Given the description of an element on the screen output the (x, y) to click on. 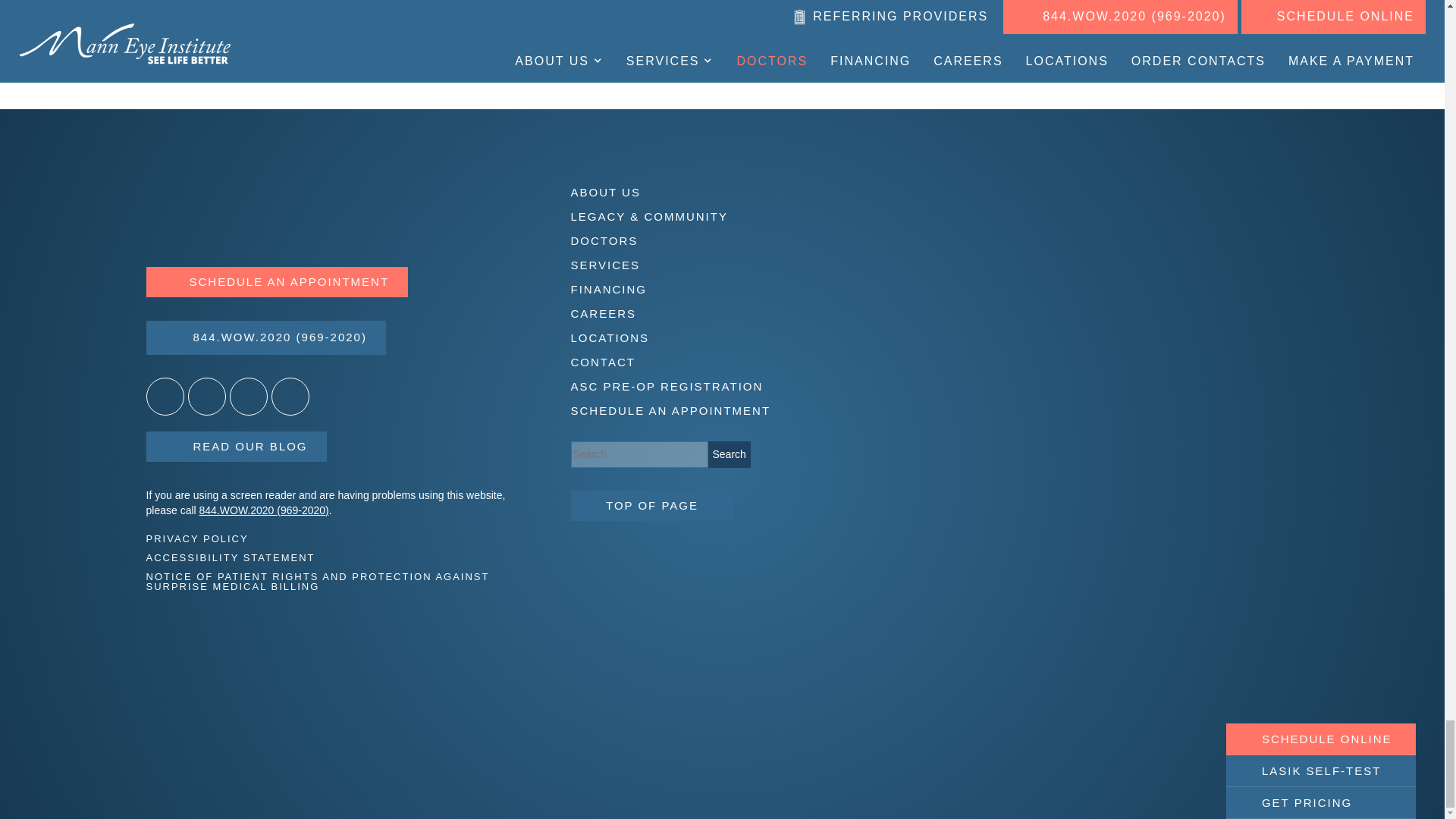
Visit us on Facebook - Opens New Tab (206, 396)
Search (729, 454)
Visit us on Instagram - Opens New Tab (247, 396)
Visit us on Twitter - Opens New Tab (164, 396)
Search (729, 454)
Visit us on YouTube - Opens New Tab (289, 396)
